Given the description of an element on the screen output the (x, y) to click on. 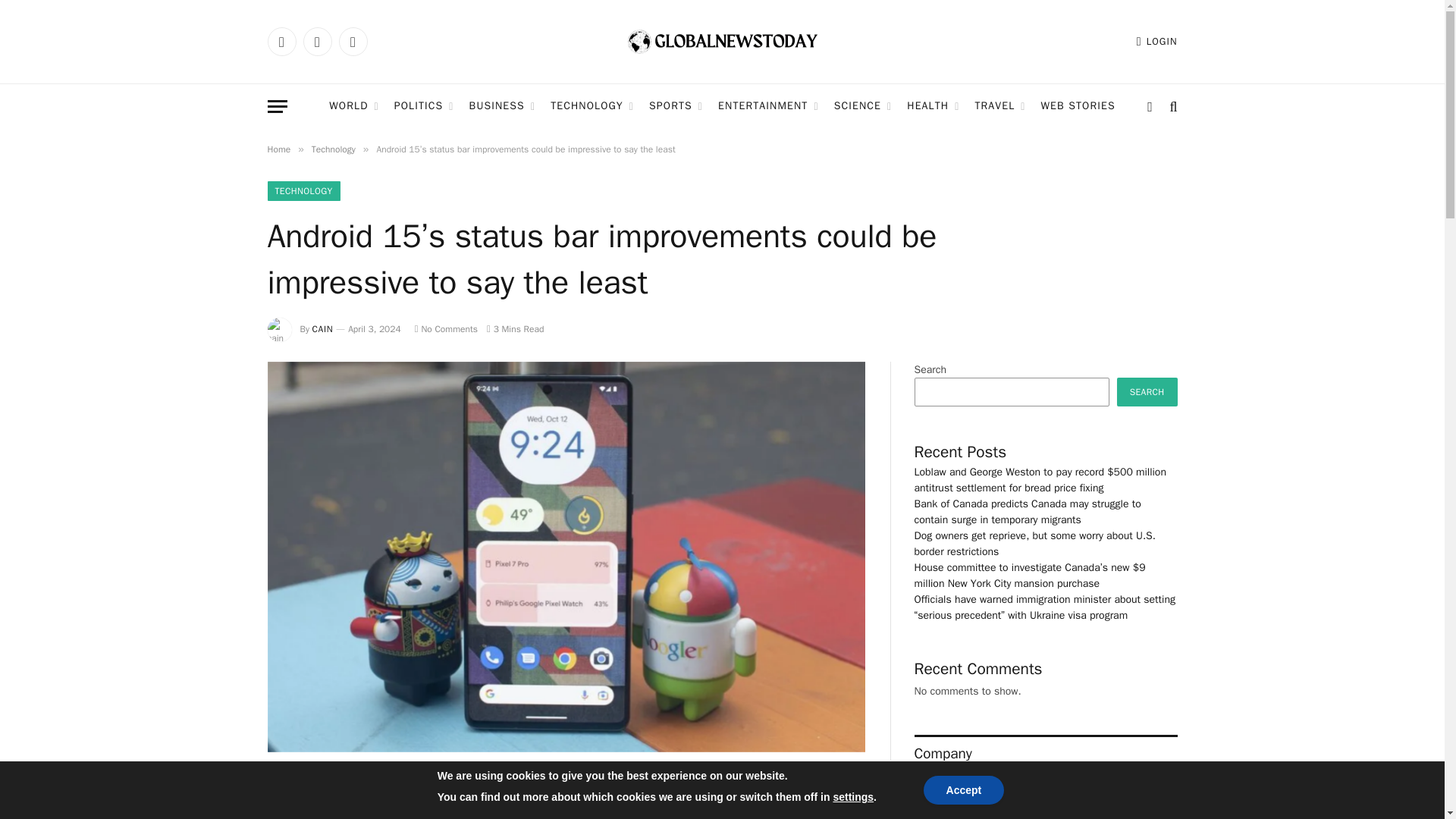
LOGIN (1157, 41)
POLITICS (424, 106)
Facebook (280, 41)
GlobalNewsToday (721, 41)
WORLD (353, 106)
Instagram (351, 41)
